Given the description of an element on the screen output the (x, y) to click on. 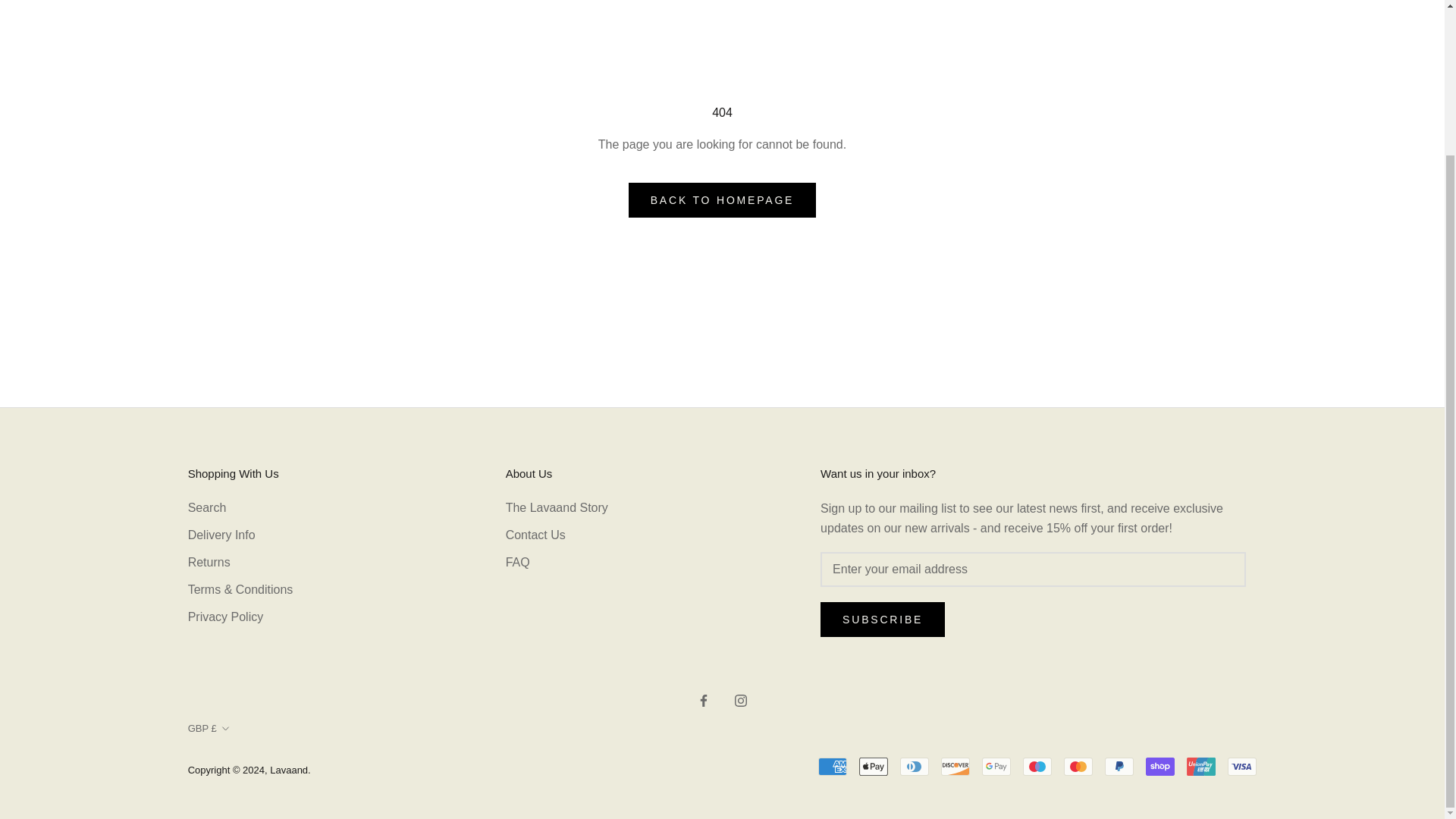
Maestro (1037, 766)
Union Pay (1200, 766)
Discover (954, 766)
Mastercard (1078, 766)
Google Pay (995, 766)
Apple Pay (873, 766)
Diners Club (913, 766)
American Express (832, 766)
Visa (1241, 766)
Shop Pay (1159, 766)
PayPal (1119, 766)
